Given the description of an element on the screen output the (x, y) to click on. 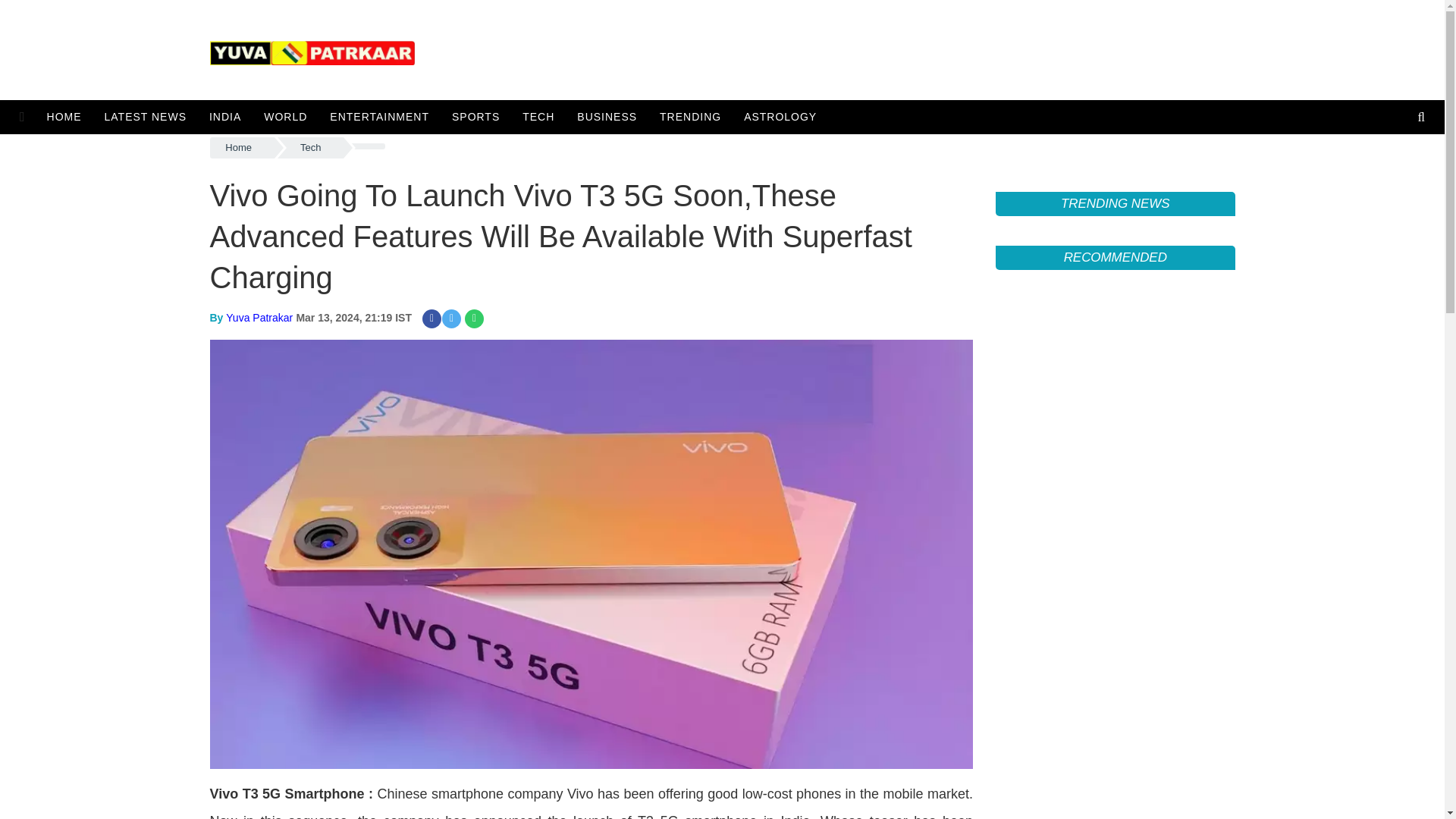
Tech (310, 147)
TRENDING (689, 116)
HOME (68, 116)
BUSINESS (606, 116)
LATEST NEWS (145, 116)
WORLD (284, 116)
INDIA (224, 116)
ASTROLOGY (780, 116)
Home (241, 147)
ENTERTAINMENT (379, 116)
